Given the description of an element on the screen output the (x, y) to click on. 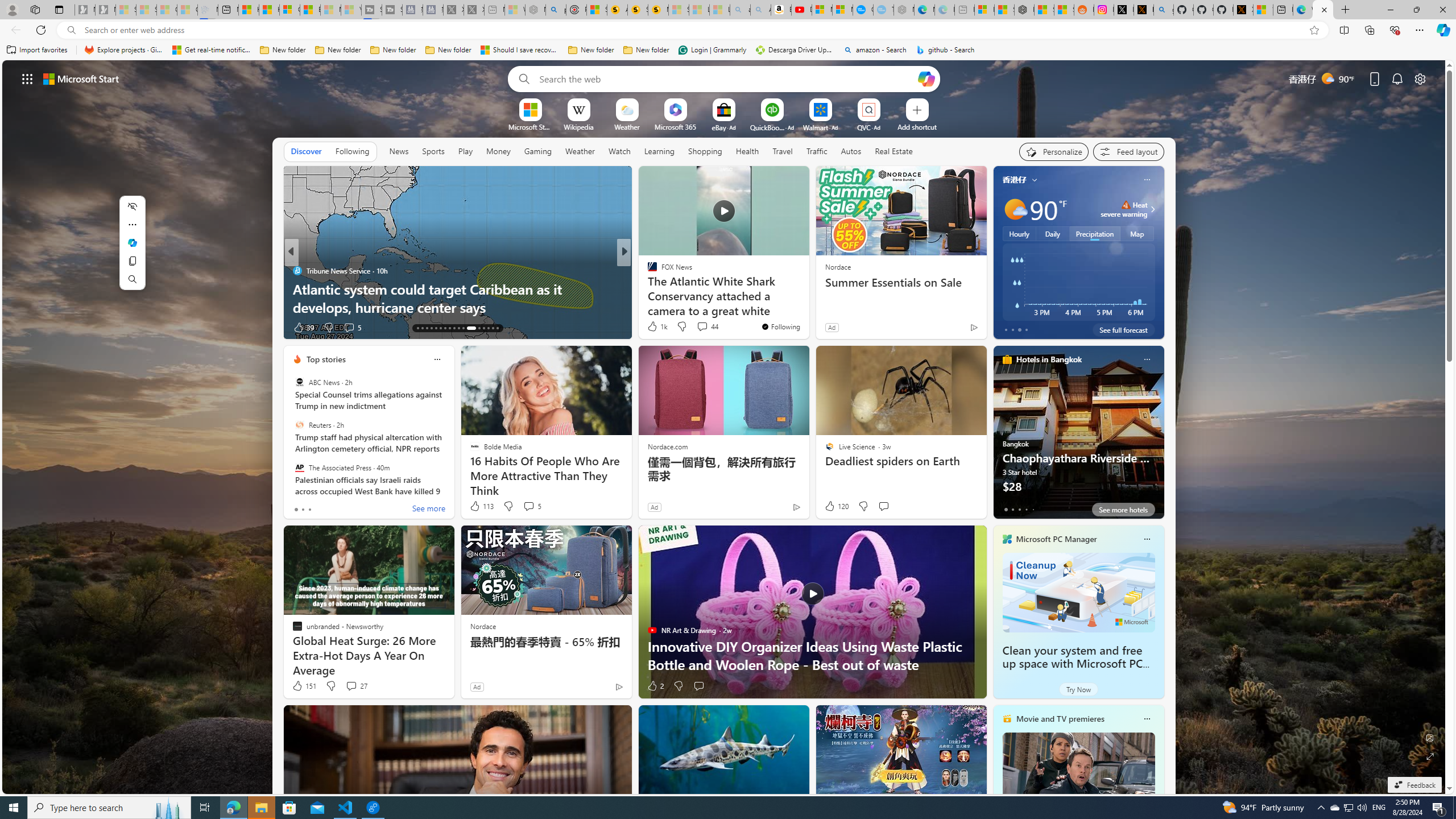
You're following FOX News (780, 326)
See full forecast (1123, 329)
AutomationID: tab-23 (462, 328)
Reuters (299, 424)
92 Like (303, 327)
AutomationID: tab-25 (475, 328)
The Associated Press (299, 466)
